Given the description of an element on the screen output the (x, y) to click on. 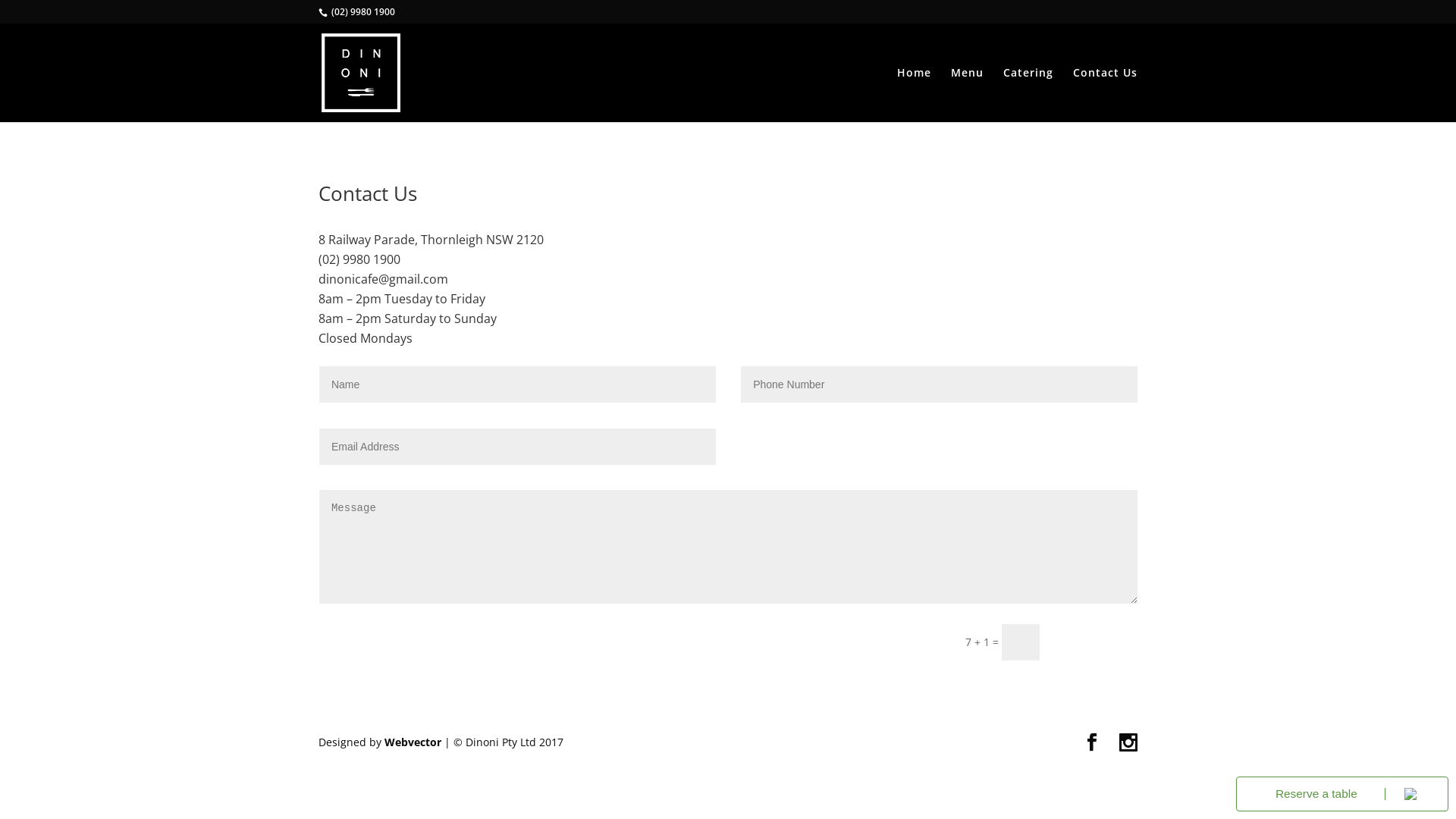
Submit Element type: text (1095, 640)
Menu Element type: text (966, 94)
Reserve a table Element type: text (1310, 793)
Webvector Element type: text (412, 741)
Home Element type: text (914, 94)
Catering Element type: text (1028, 94)
Contact Us Element type: text (1105, 94)
